Given the description of an element on the screen output the (x, y) to click on. 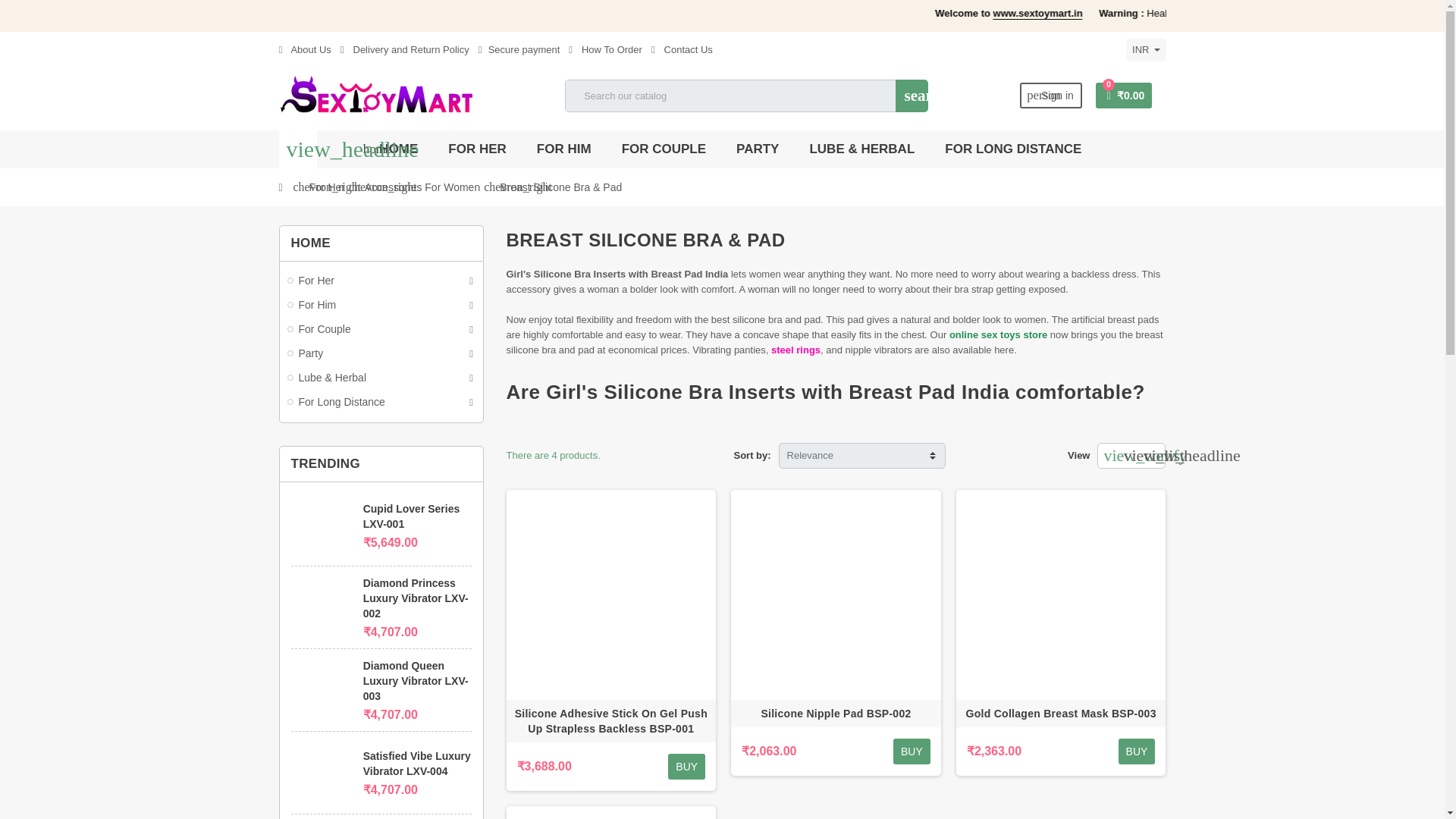
How To Order (605, 49)
PARTY (757, 149)
FOR LONG DISTANCE (1013, 149)
 Delivery and Return Policy (404, 49)
FOR HIM (563, 149)
FOR COUPLE (663, 149)
www.sextoymart.in (1265, 13)
Contact Us (681, 49)
Secure payment (519, 49)
Log in to your customer account (1051, 95)
